Given the description of an element on the screen output the (x, y) to click on. 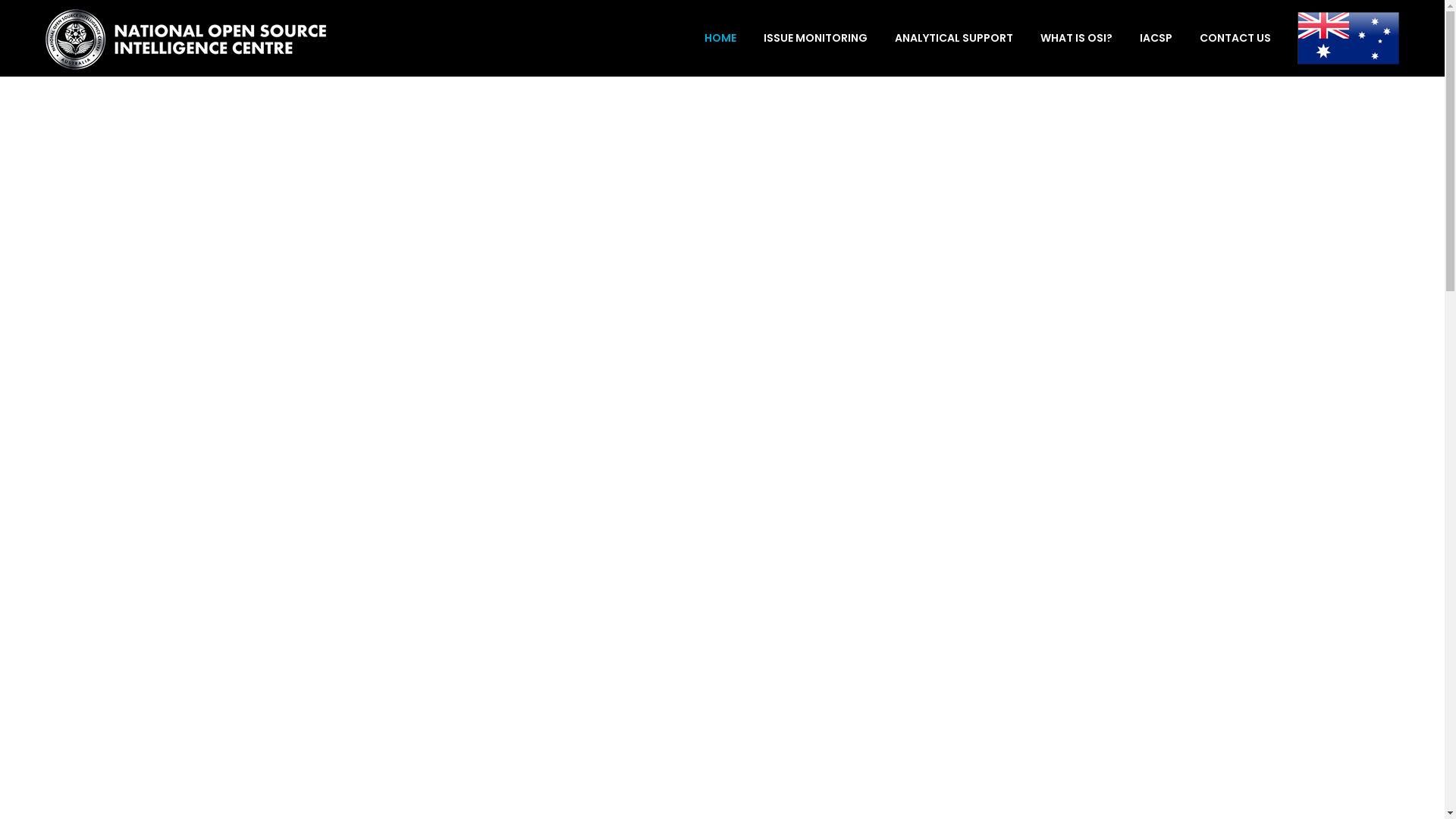
WHAT IS OSI? Element type: text (1076, 37)
HOME Element type: text (719, 37)
CONTACT US Element type: text (1228, 37)
IACSP Element type: text (1156, 37)
ISSUE MONITORING Element type: text (815, 37)
ANALYTICAL SUPPORT Element type: text (953, 37)
